Given the description of an element on the screen output the (x, y) to click on. 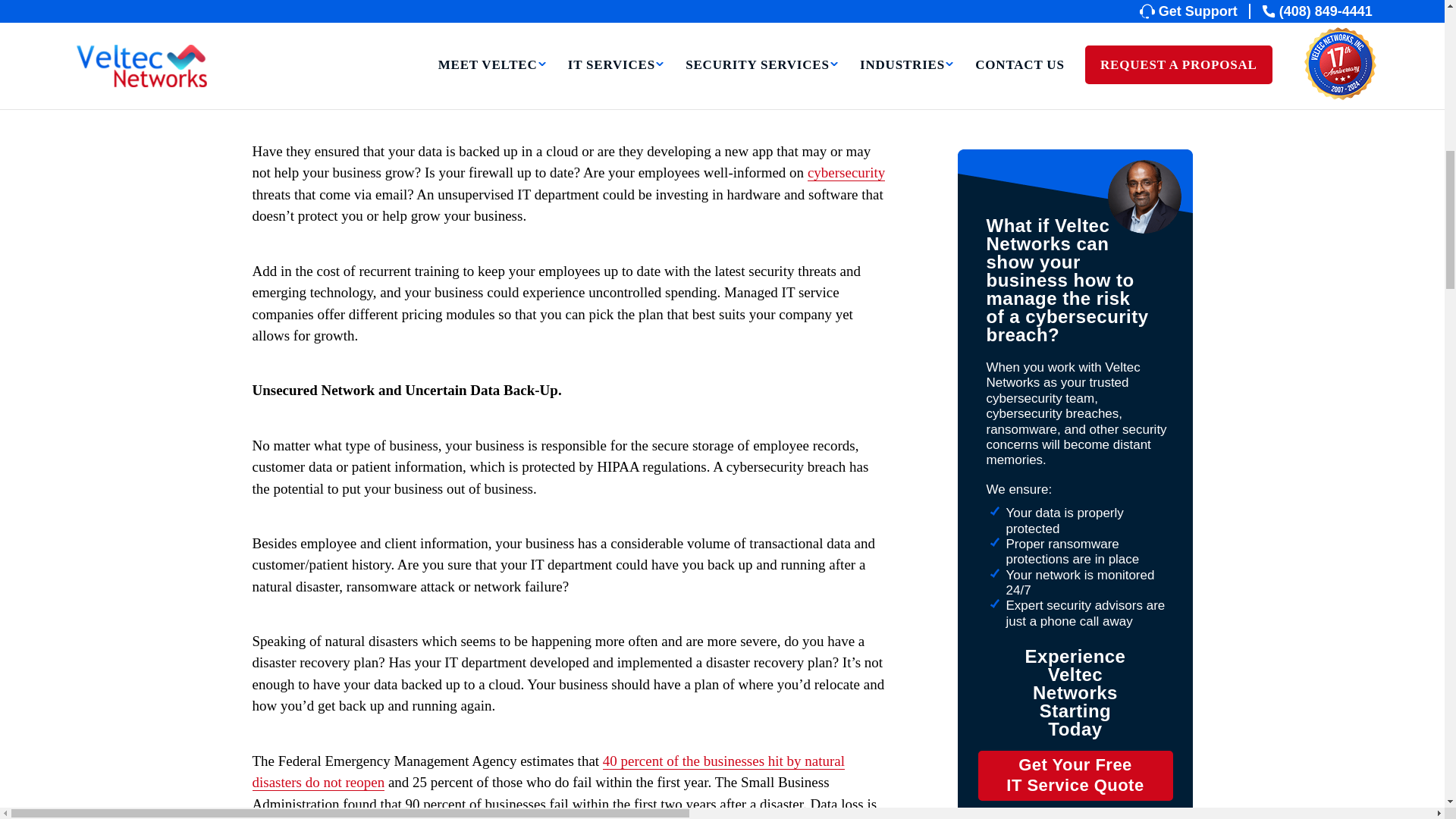
cybersecurity (1075, 407)
cybersecurity (846, 172)
